Given the description of an element on the screen output the (x, y) to click on. 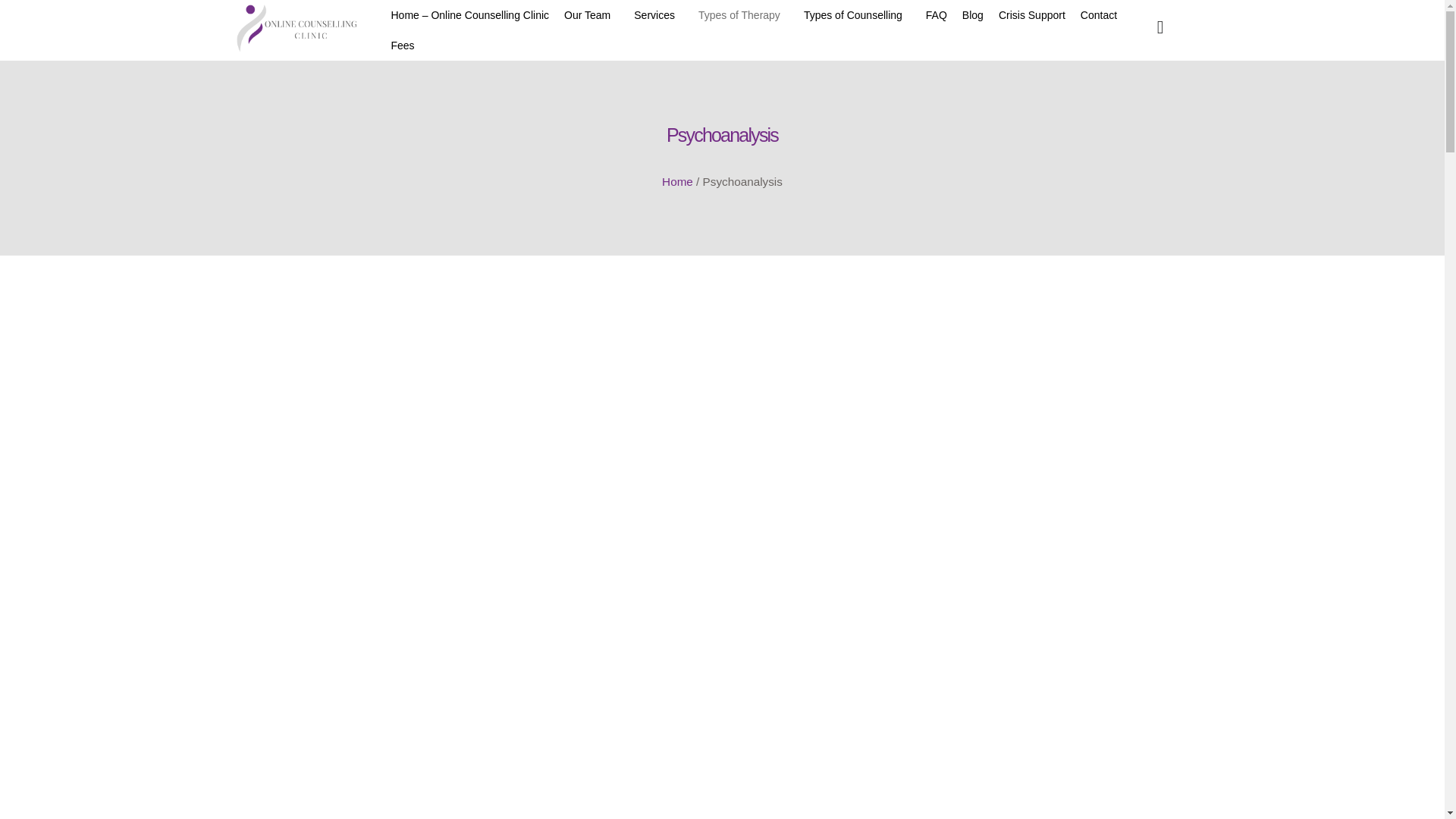
Our Team (591, 15)
Services (658, 15)
Types of Therapy (743, 15)
